Given the description of an element on the screen output the (x, y) to click on. 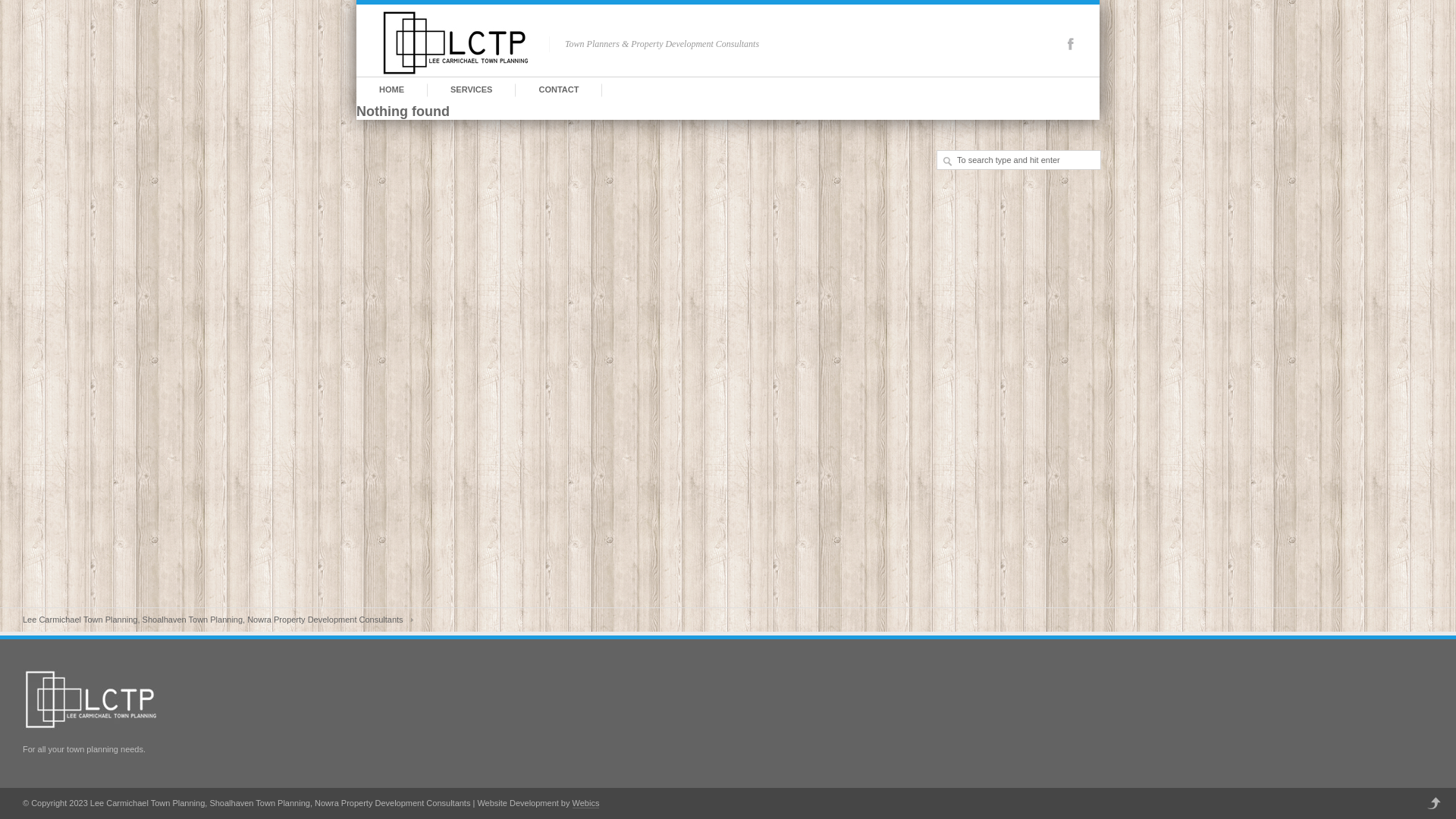
SERVICES Element type: text (470, 89)
Facebook Element type: text (1070, 43)
CONTACT Element type: text (558, 89)
HOME Element type: text (391, 89)
Webics Element type: text (585, 803)
